Given the description of an element on the screen output the (x, y) to click on. 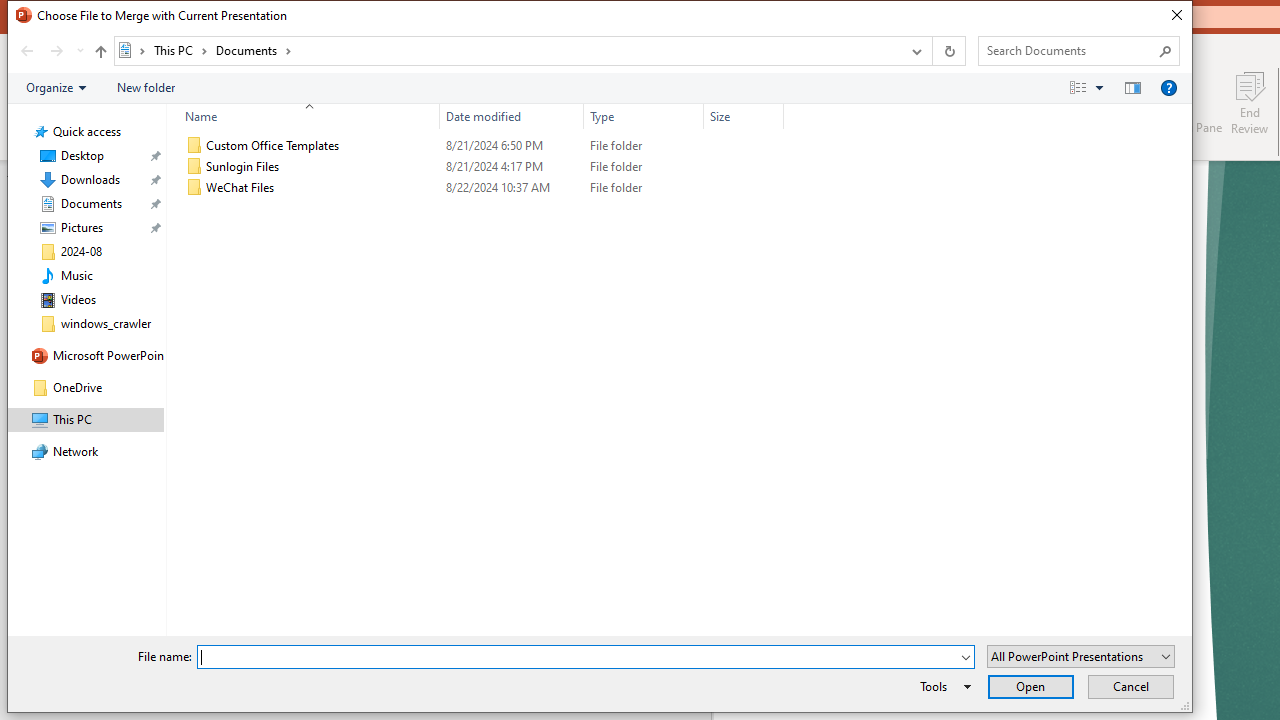
Organize (56, 87)
